Given the description of an element on the screen output the (x, y) to click on. 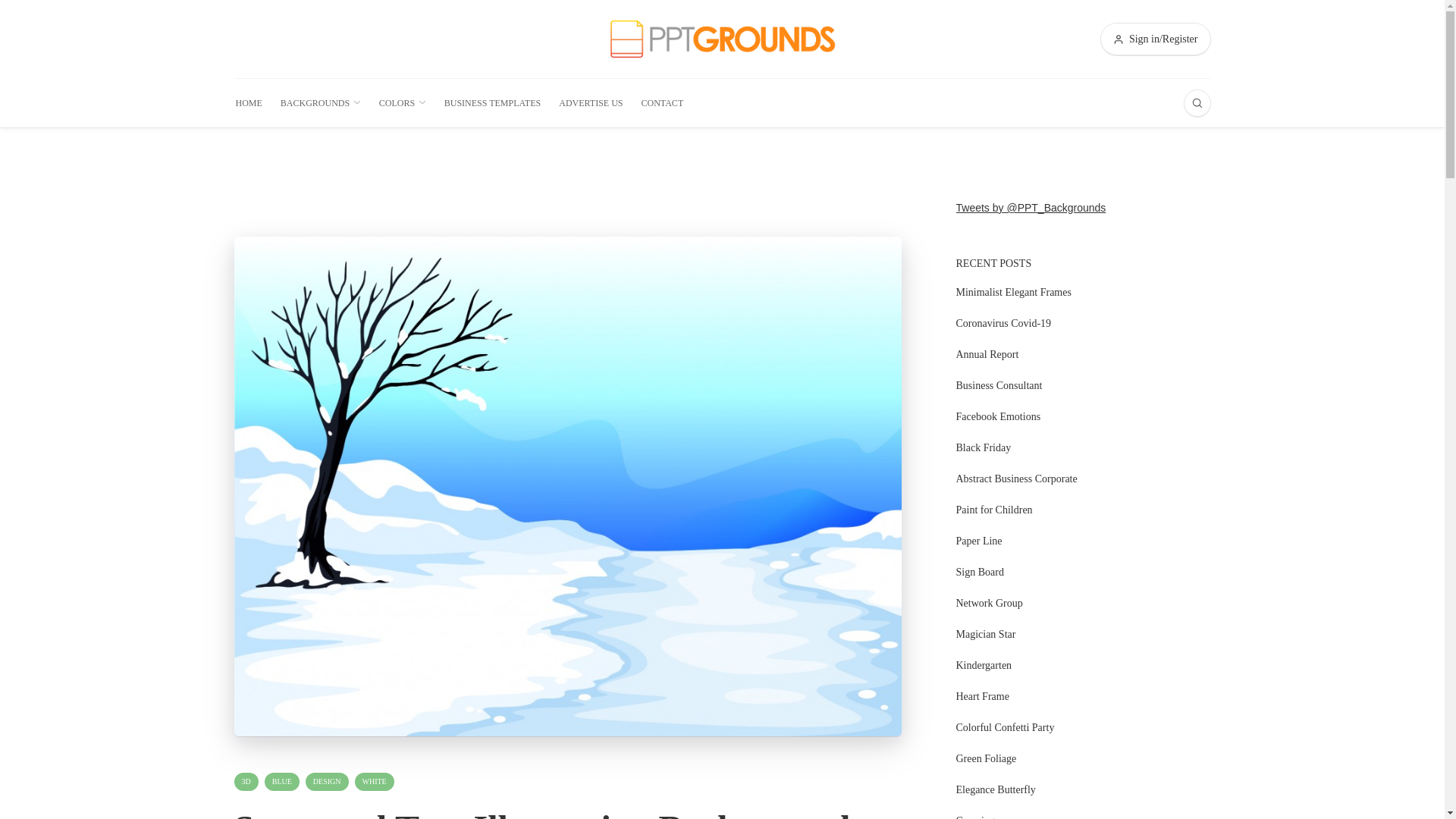
BACKGROUNDS (321, 102)
COLORS (402, 102)
View all posts in White (374, 782)
View all posts in Design (327, 782)
View all posts in Blue (281, 782)
View all posts in 3D (244, 782)
Free PPT Grounds and Powerpoint Template (721, 38)
